Given the description of an element on the screen output the (x, y) to click on. 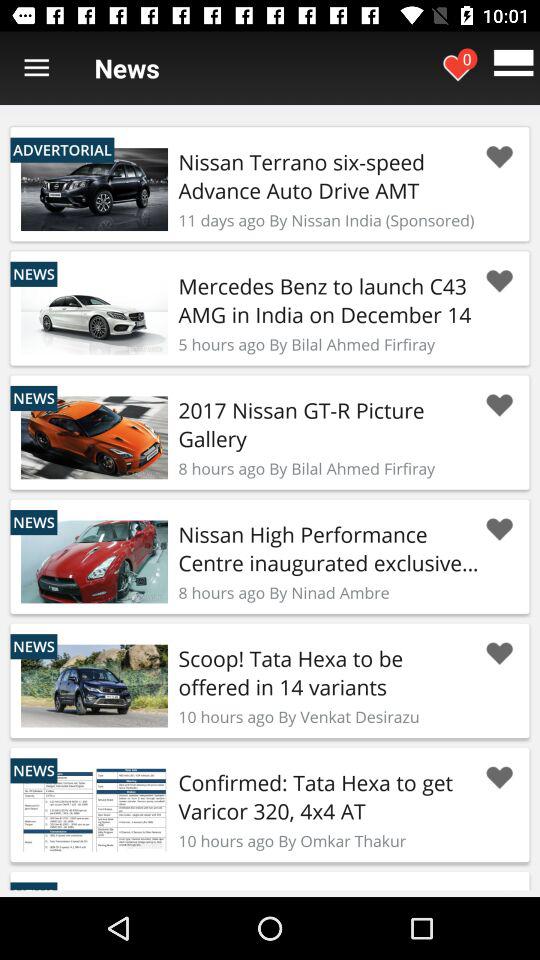
launch the icon next to the news item (36, 68)
